Given the description of an element on the screen output the (x, y) to click on. 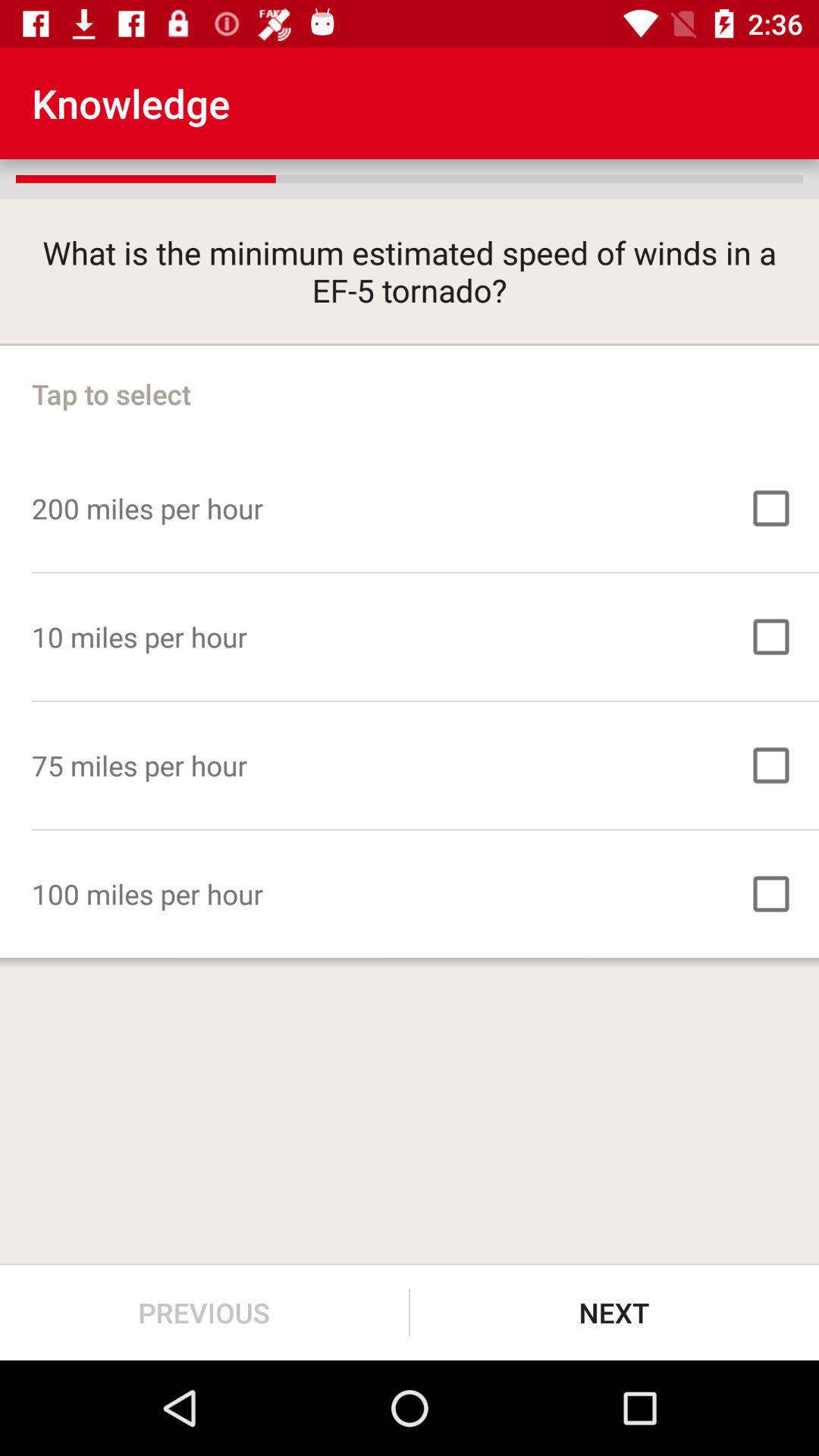
scroll until next icon (614, 1312)
